Given the description of an element on the screen output the (x, y) to click on. 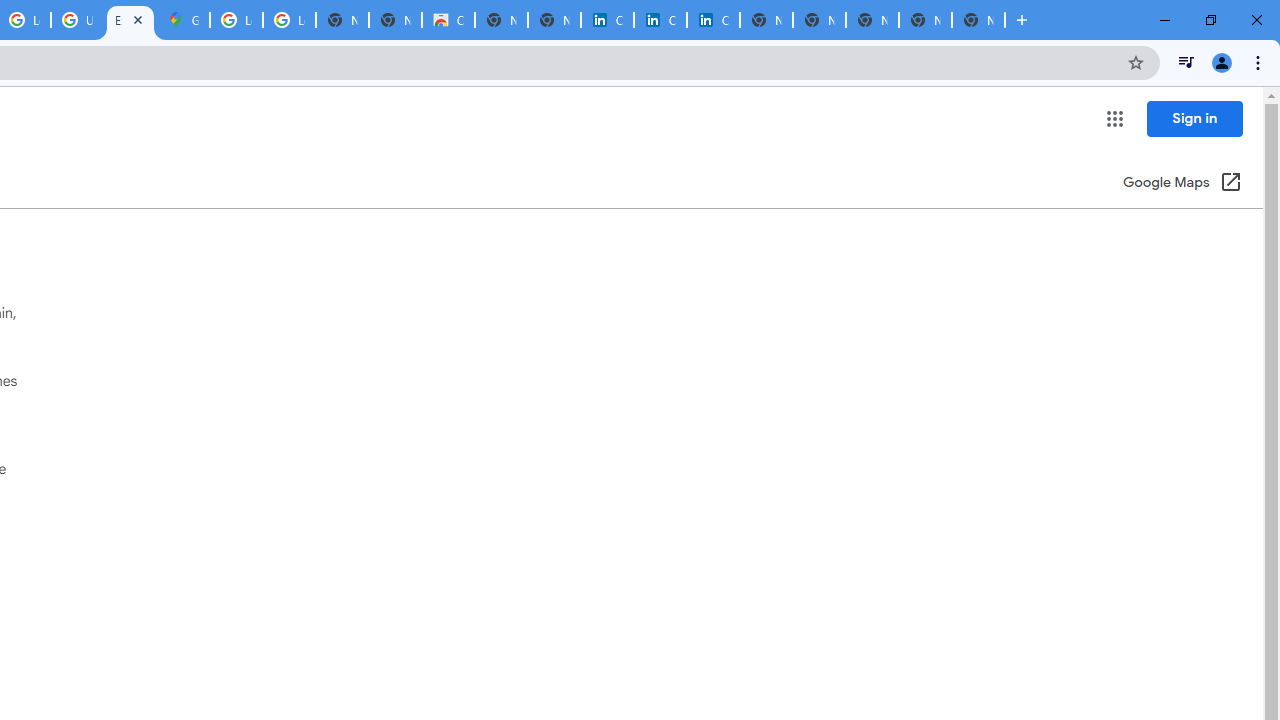
Copyright Policy (713, 20)
Explore new street-level details - Google Maps Help (130, 20)
Google Maps (183, 20)
